Given the description of an element on the screen output the (x, y) to click on. 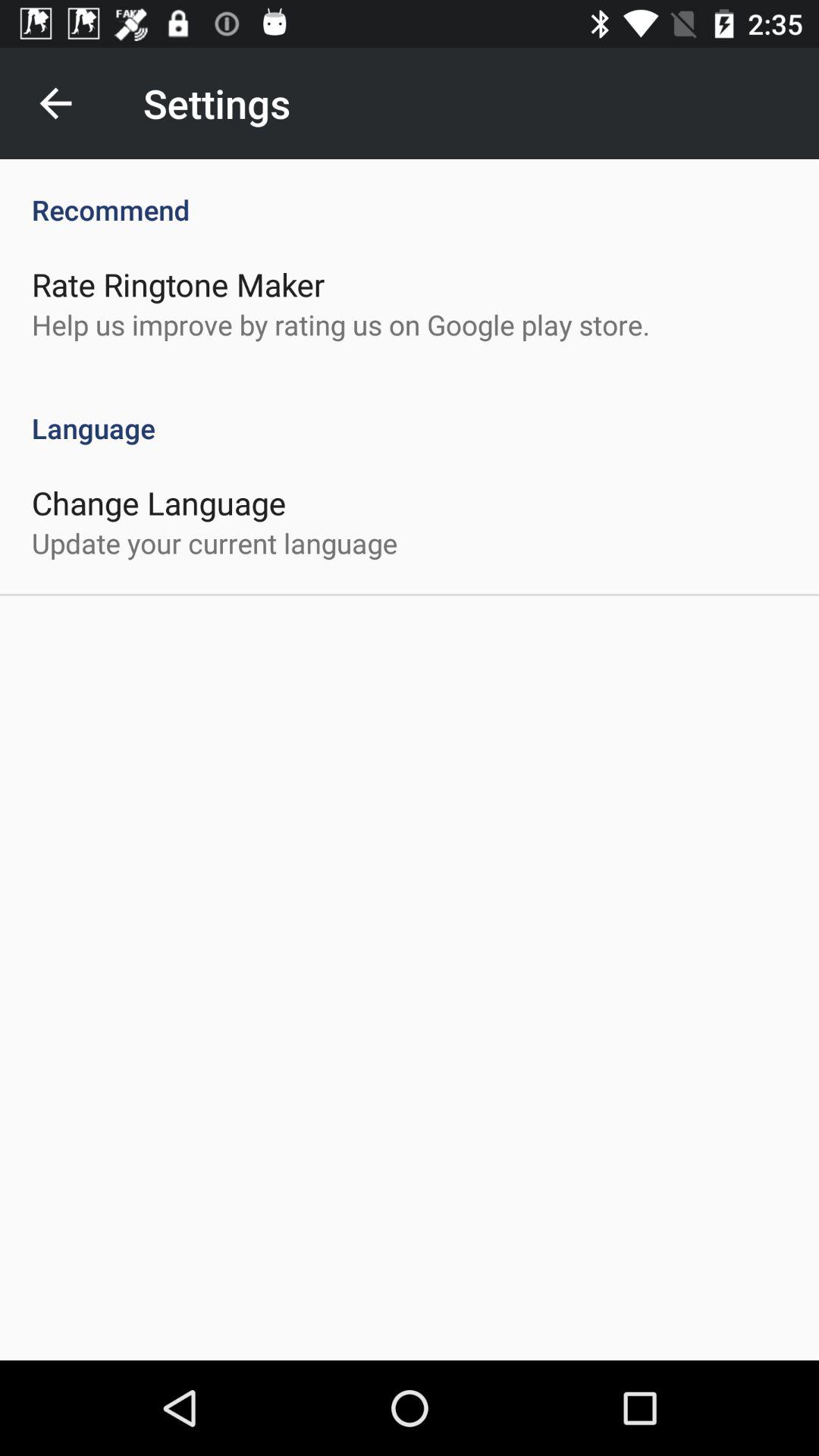
flip until help us improve icon (340, 324)
